Given the description of an element on the screen output the (x, y) to click on. 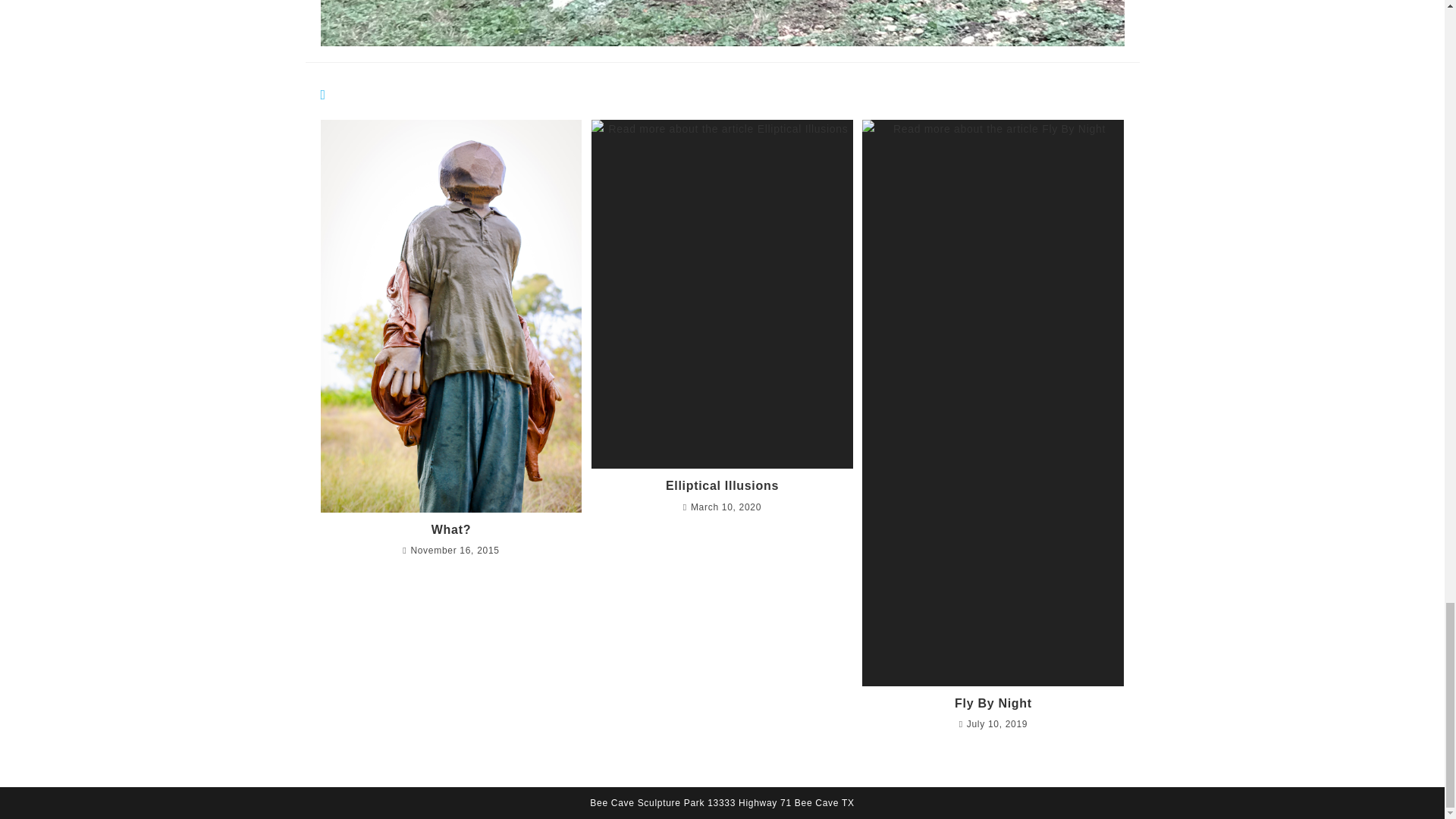
Fly By Night (992, 703)
Elliptical Illusions (721, 485)
What? (450, 529)
